Given the description of an element on the screen output the (x, y) to click on. 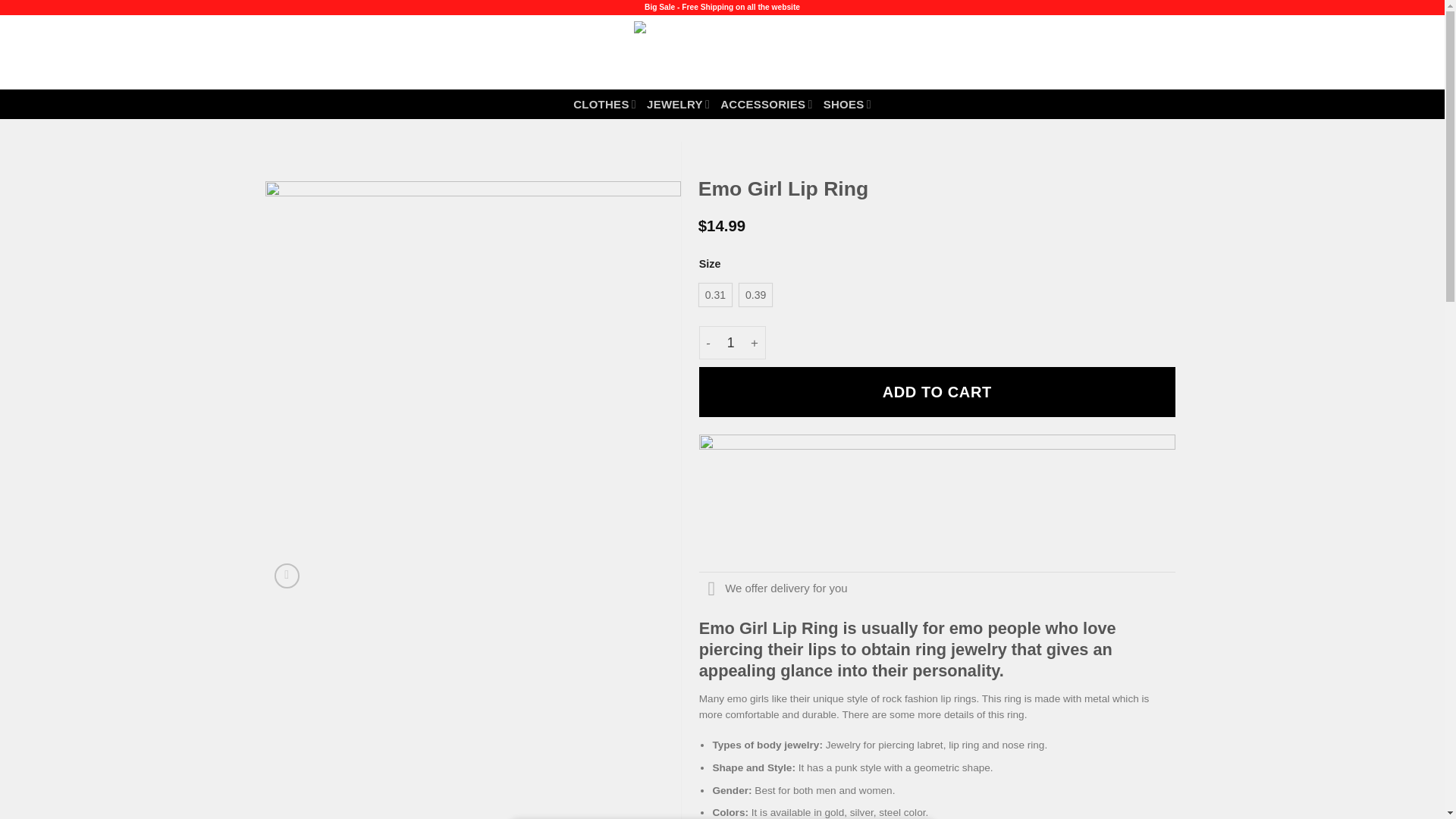
Zoom (287, 575)
JEWELRY (678, 103)
CLOTHES (604, 103)
ACCESSORIES (766, 103)
